Given the description of an element on the screen output the (x, y) to click on. 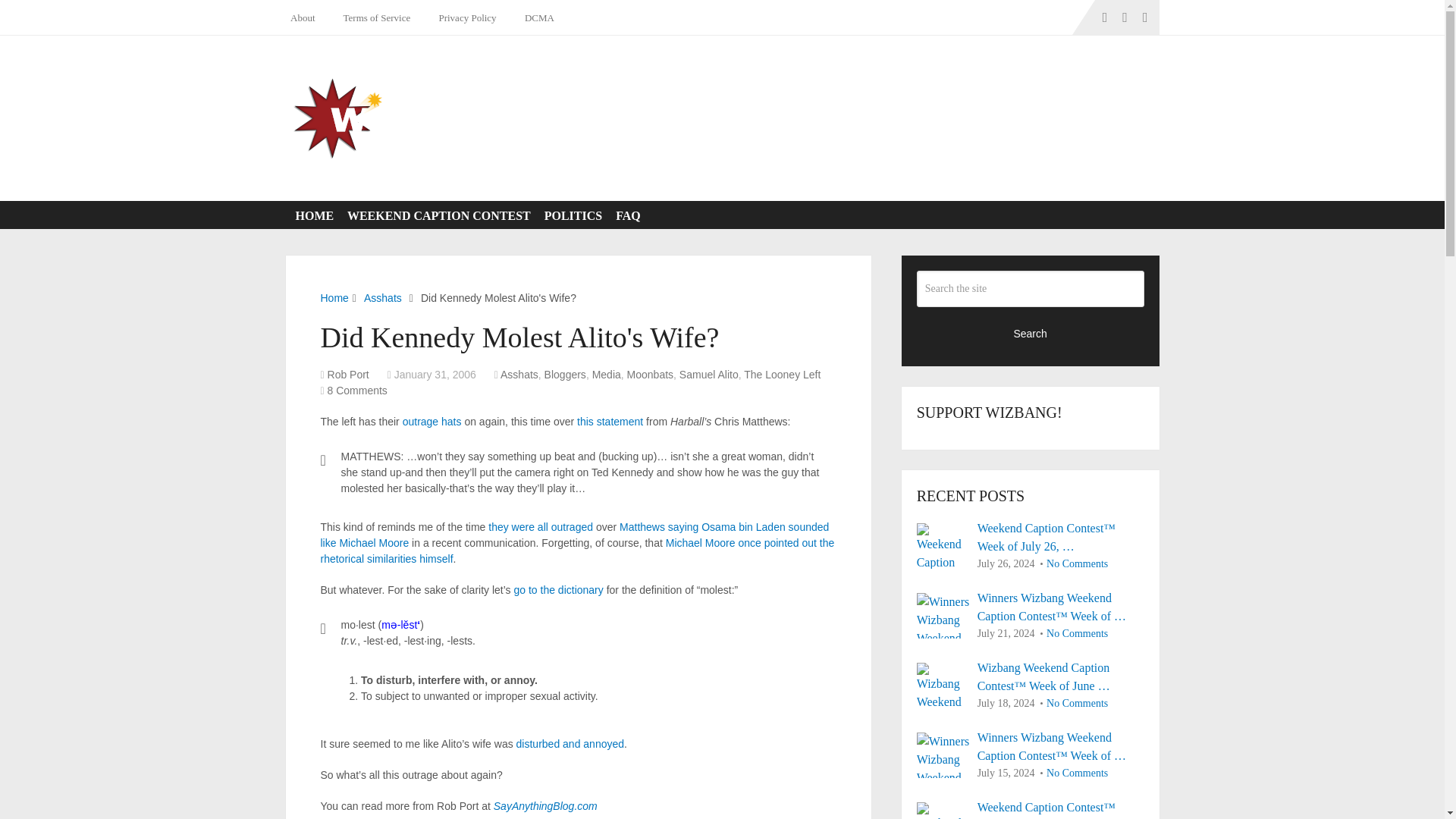
The Looney Left (782, 374)
DCMA (537, 17)
Samuel Alito (708, 374)
Moonbats (649, 374)
this statement (609, 421)
SayAnythingBlog.com (544, 806)
disturbed and annoyed (570, 743)
outrage (420, 421)
Matthews saying Osama bin Laden sounded like Michael Moore (574, 534)
Rob Port (348, 374)
go to the dictionary (557, 589)
View all posts in Bloggers (565, 374)
About (305, 17)
View all posts in The Looney Left (782, 374)
FAQ (625, 216)
